Given the description of an element on the screen output the (x, y) to click on. 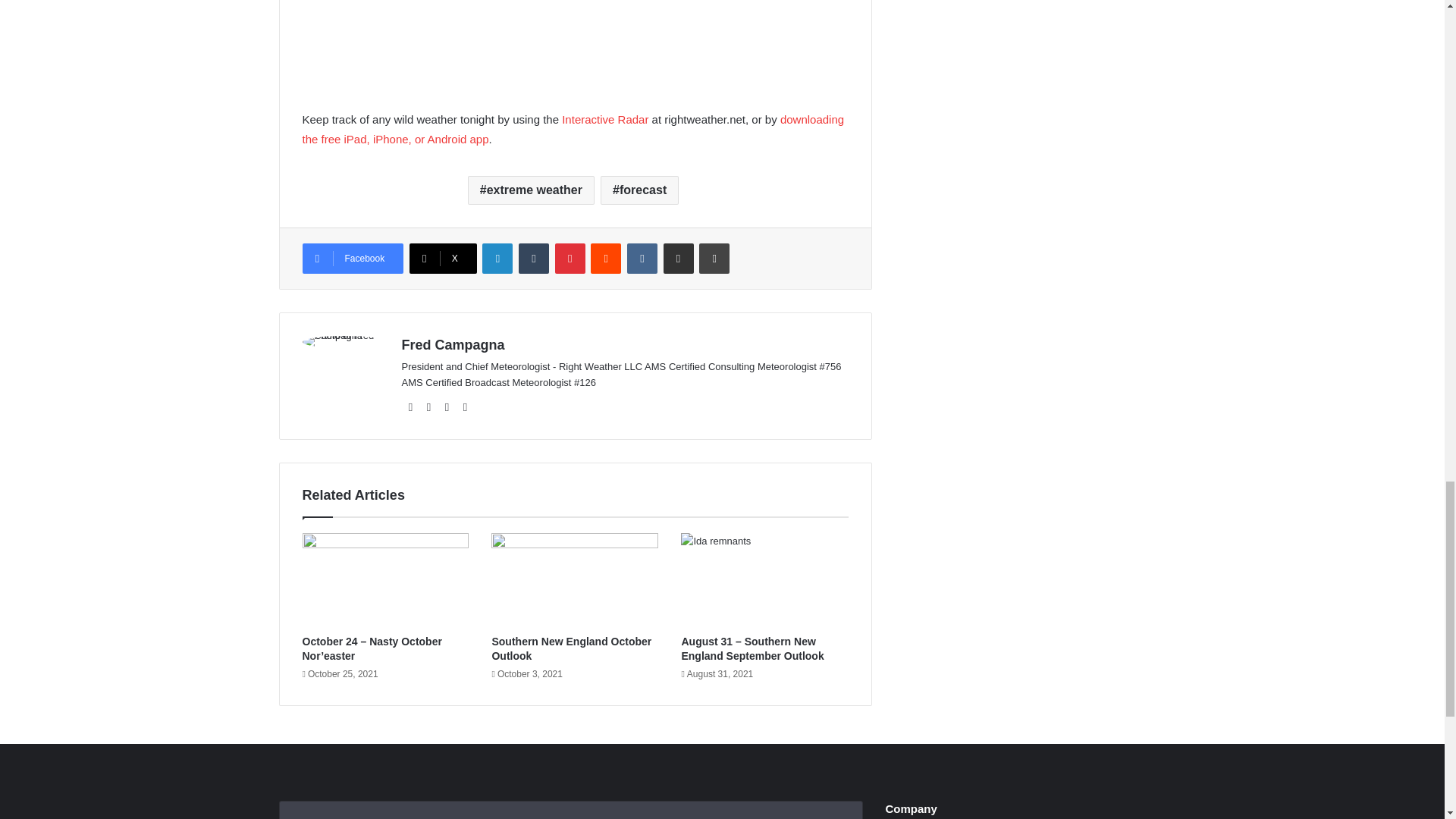
Tumblr (533, 258)
Pinterest (569, 258)
X (443, 258)
Share via Email (678, 258)
The Free RightWX App! (572, 129)
Facebook (352, 258)
forecast (638, 190)
LinkedIn (496, 258)
LinkedIn (496, 258)
Interactive Radar (604, 119)
Interactive Radar (604, 119)
Tumblr (533, 258)
downloading the free iPad, iPhone, or Android app (572, 129)
X (443, 258)
extreme weather (530, 190)
